Given the description of an element on the screen output the (x, y) to click on. 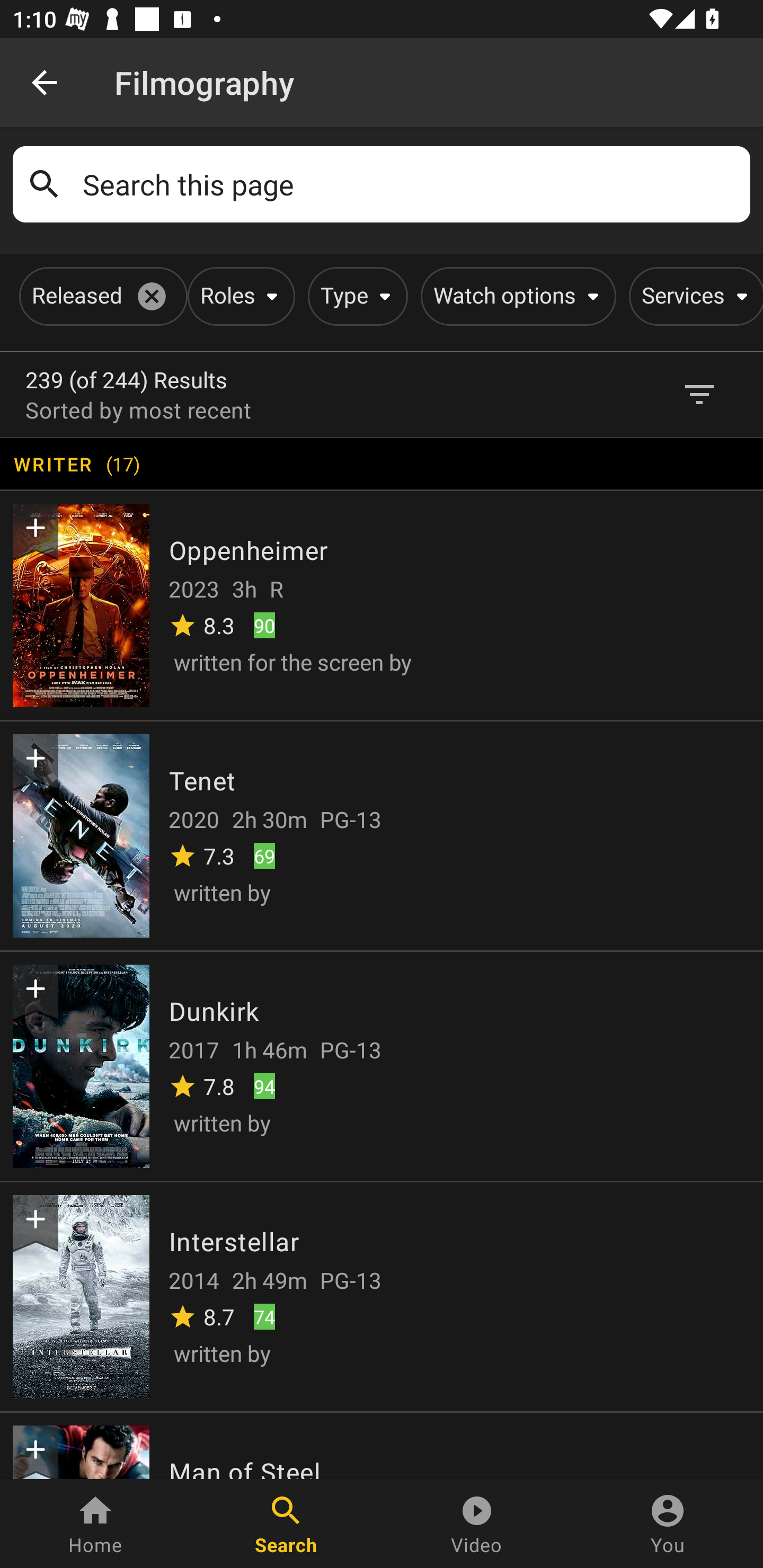
Search this page (410, 184)
Released (100, 296)
Roles (237, 296)
Type (354, 296)
Watch options (514, 296)
Services (693, 296)
Tenet 2020 2h 30m PG-13 7.3 69  written by (381, 834)
Dunkirk 2017 1h 46m PG-13 7.8 94  written by (381, 1065)
Interstellar 2014 2h 49m PG-13 8.7 74  written by (381, 1295)
Home (95, 1523)
Video (476, 1523)
You (667, 1523)
